Given the description of an element on the screen output the (x, y) to click on. 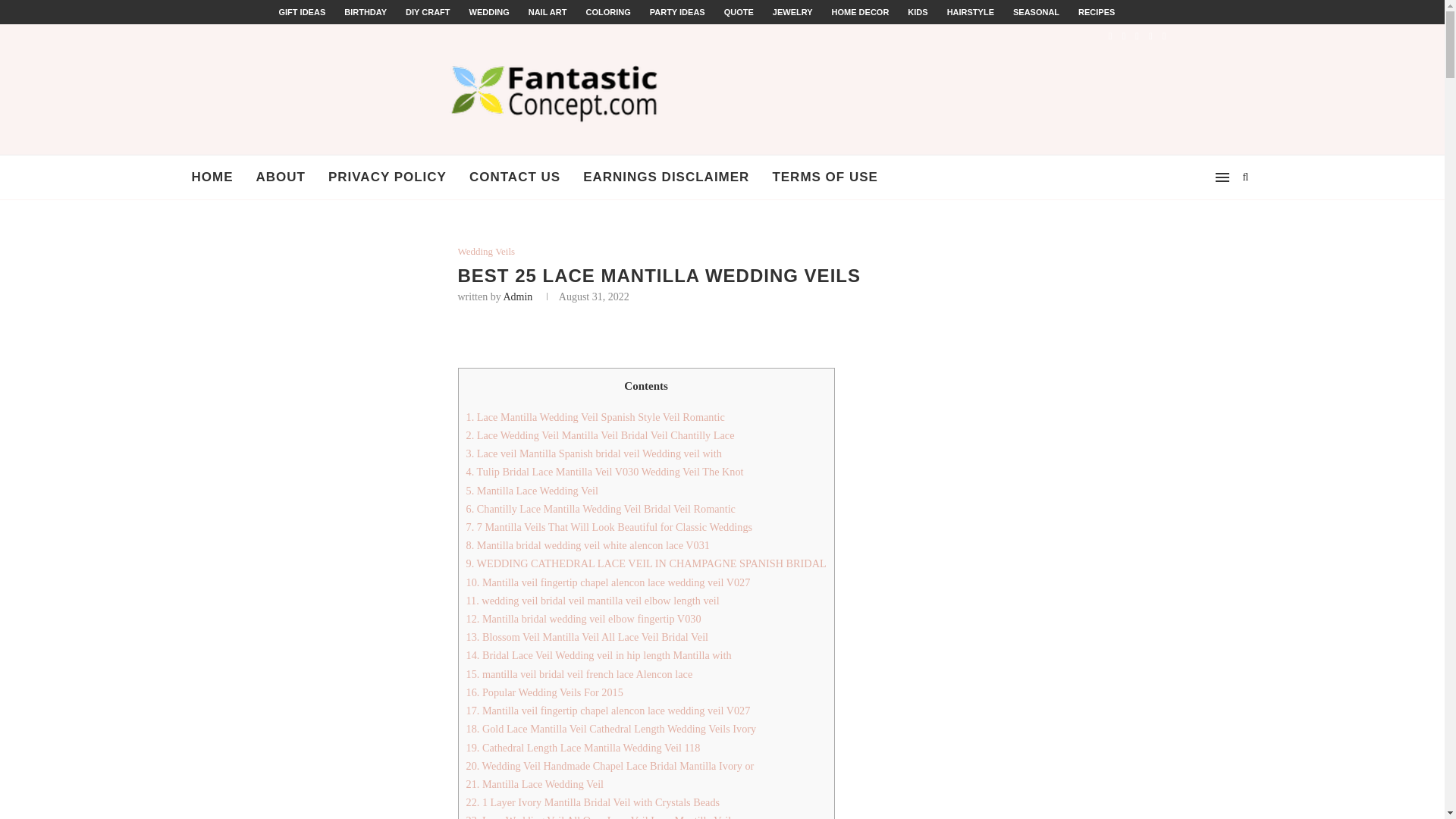
GIFT IDEAS (302, 11)
BIRTHDAY (365, 11)
